Given the description of an element on the screen output the (x, y) to click on. 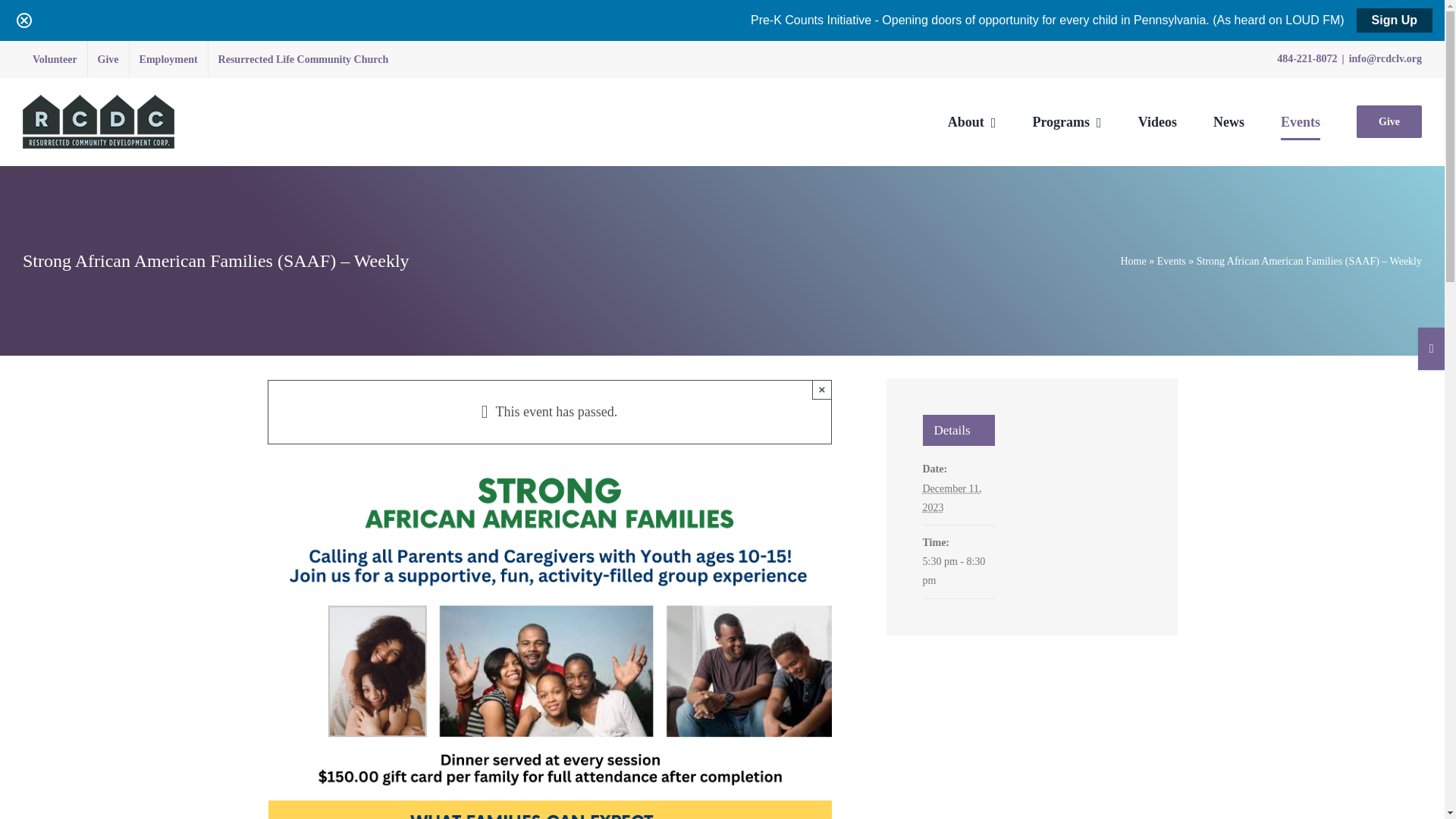
2023-12-11 (957, 570)
2023-12-11 (951, 498)
Events (1171, 260)
Give (108, 58)
Employment (168, 58)
484-221-8072 (1306, 58)
Sign Up (1394, 20)
Resurrected Life Community Church (303, 58)
Home (1132, 260)
Volunteer (55, 58)
